Given the description of an element on the screen output the (x, y) to click on. 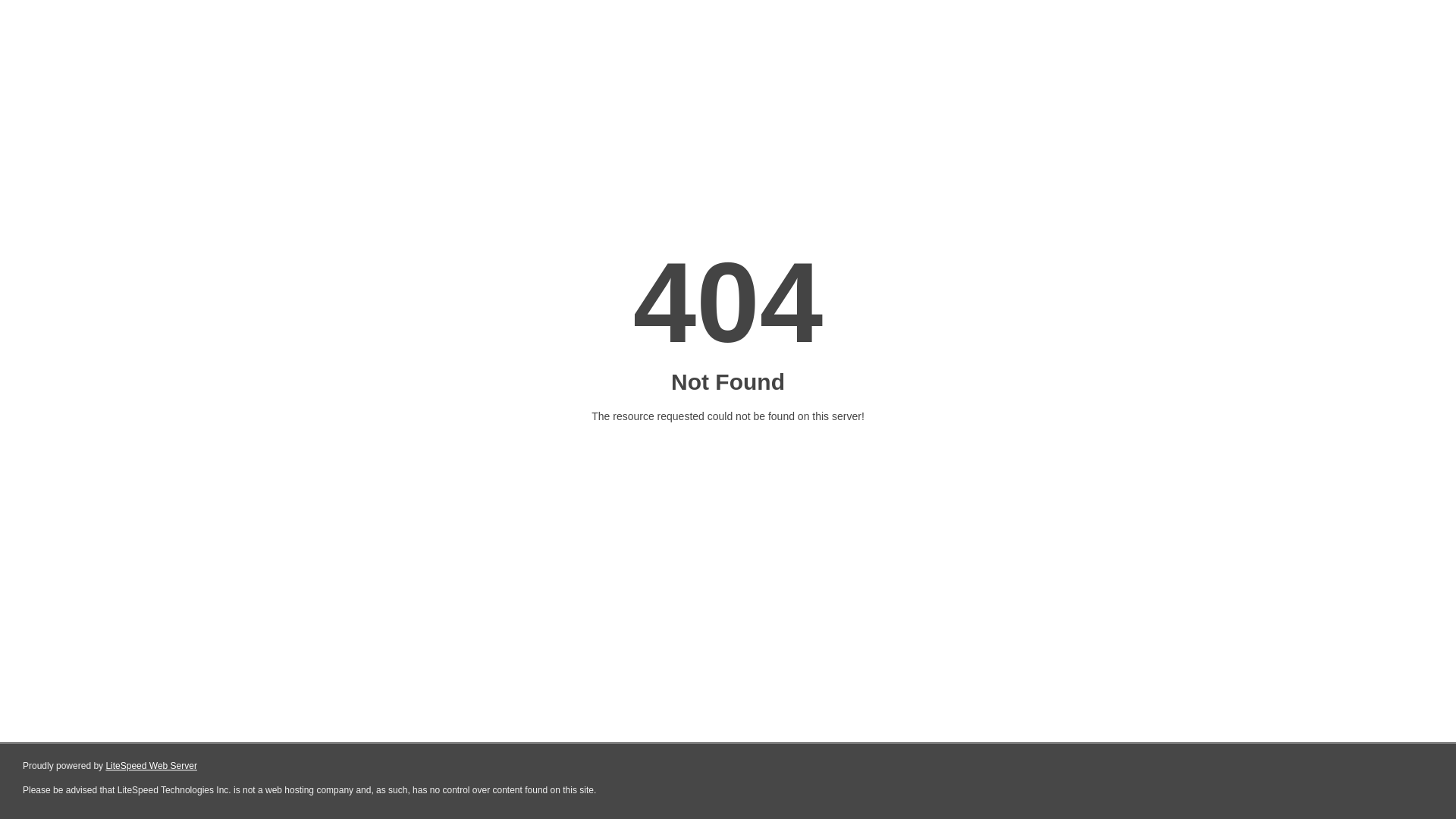
LiteSpeed Web Server Element type: text (151, 765)
